Given the description of an element on the screen output the (x, y) to click on. 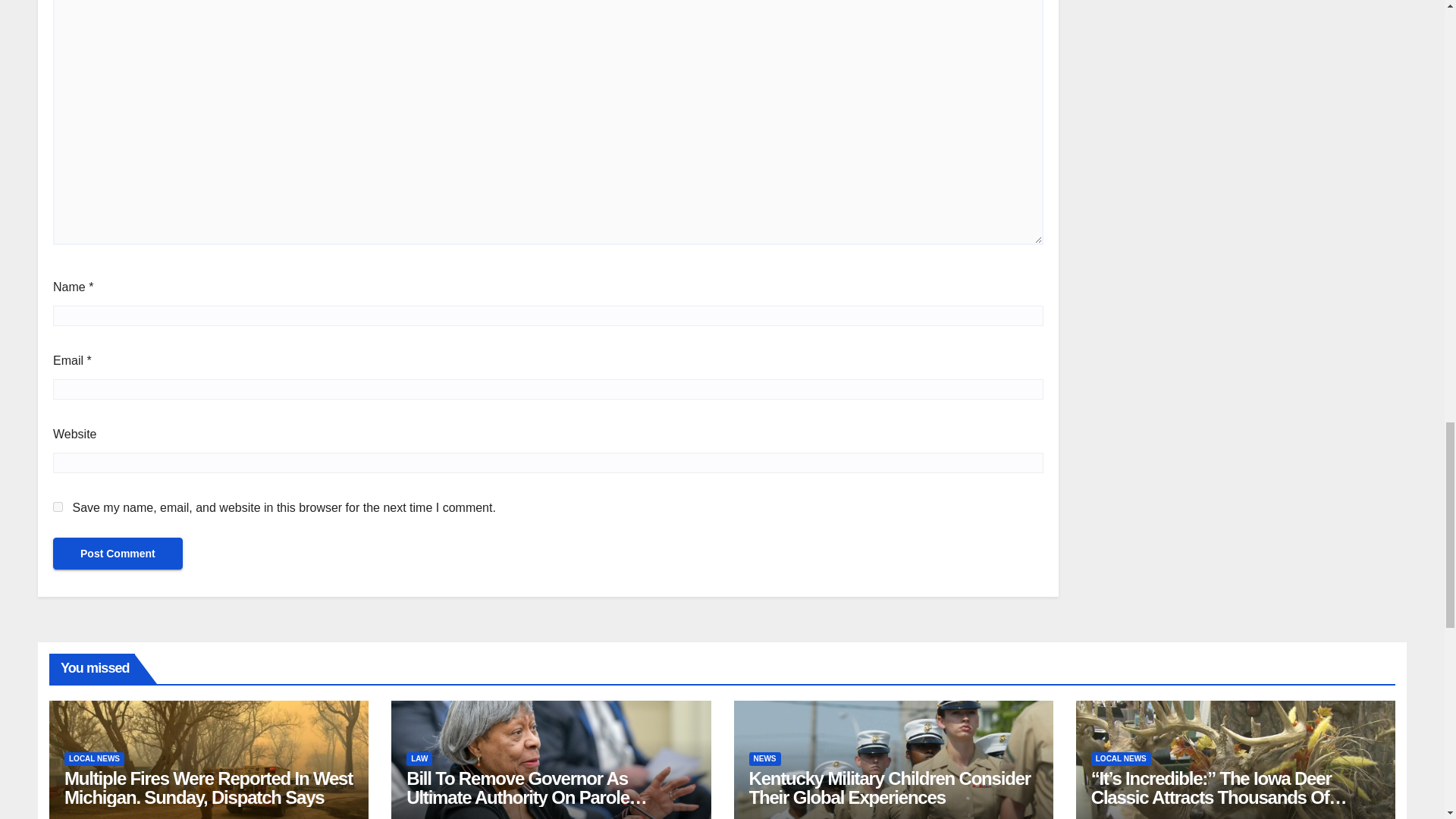
Post Comment (117, 553)
yes (57, 506)
